Given the description of an element on the screen output the (x, y) to click on. 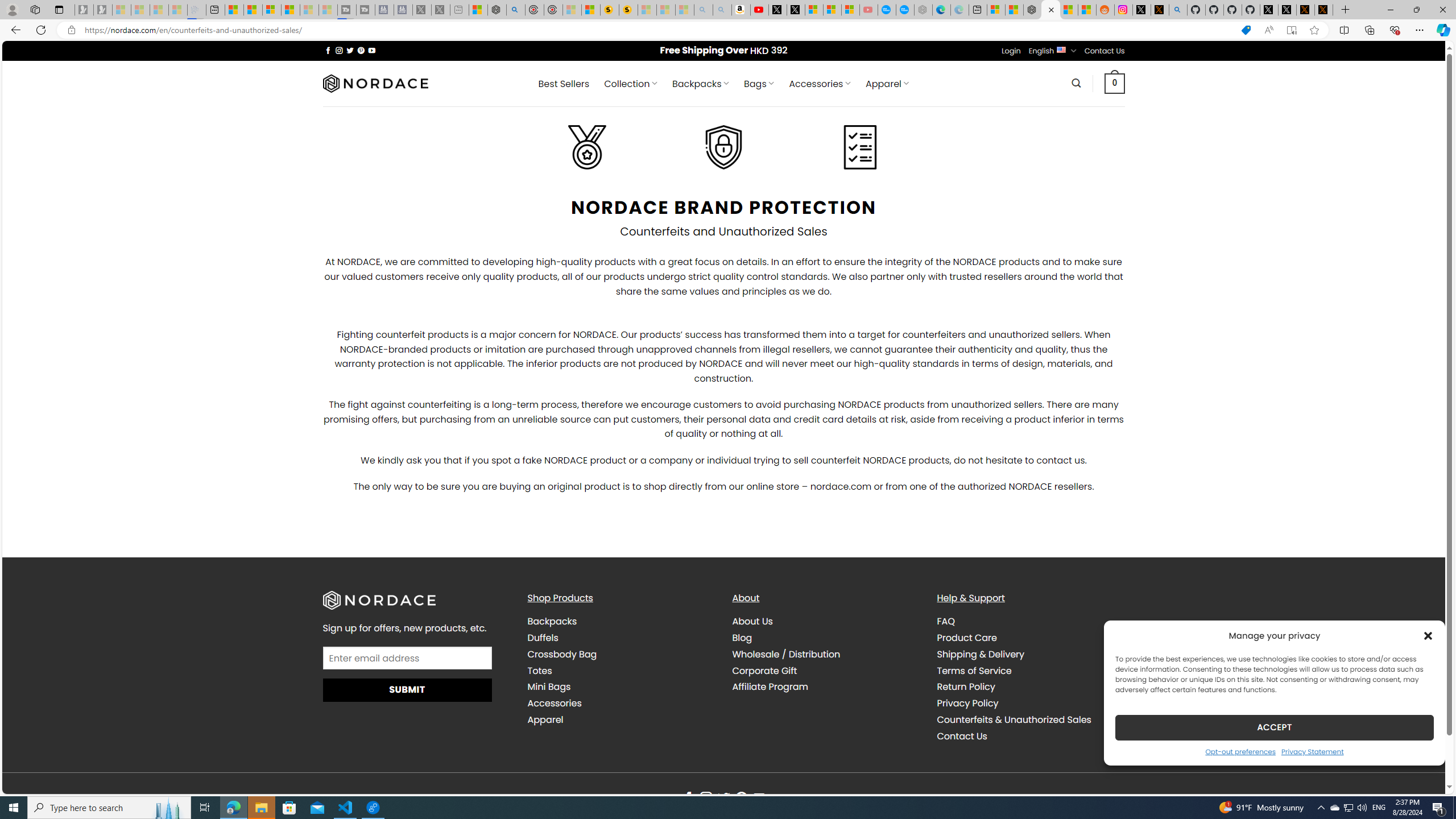
Corporate Gift (764, 670)
Accessories (620, 703)
Duffels (620, 637)
Duffels (543, 637)
Privacy Policy (1030, 703)
help.x.com | 524: A timeout occurred (1159, 9)
Backpacks (620, 621)
FAQ (1030, 621)
